Given the description of an element on the screen output the (x, y) to click on. 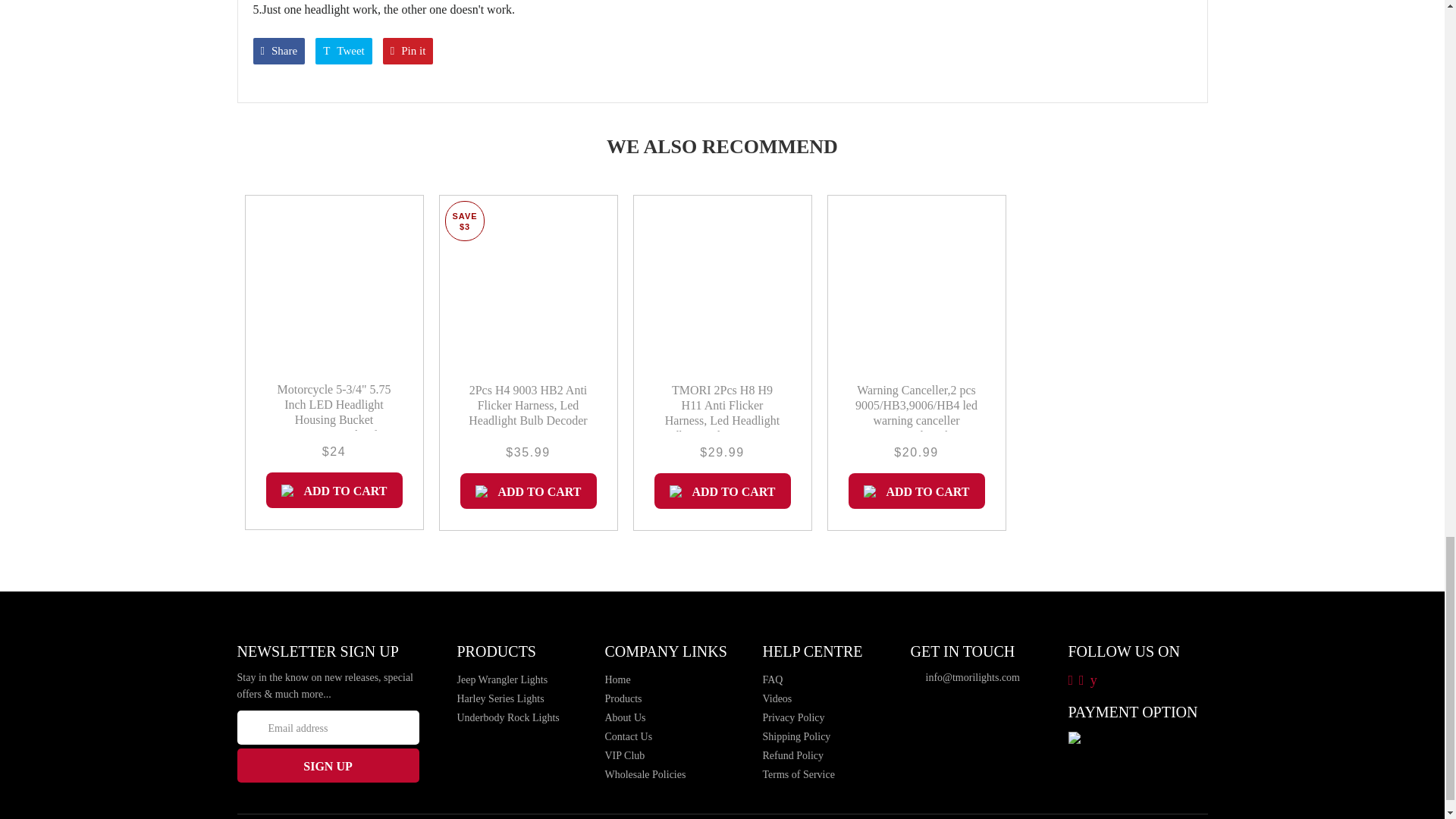
Share on Facebook (279, 50)
Pin on Pinterest (407, 50)
Tweet on Twitter (343, 50)
